Given the description of an element on the screen output the (x, y) to click on. 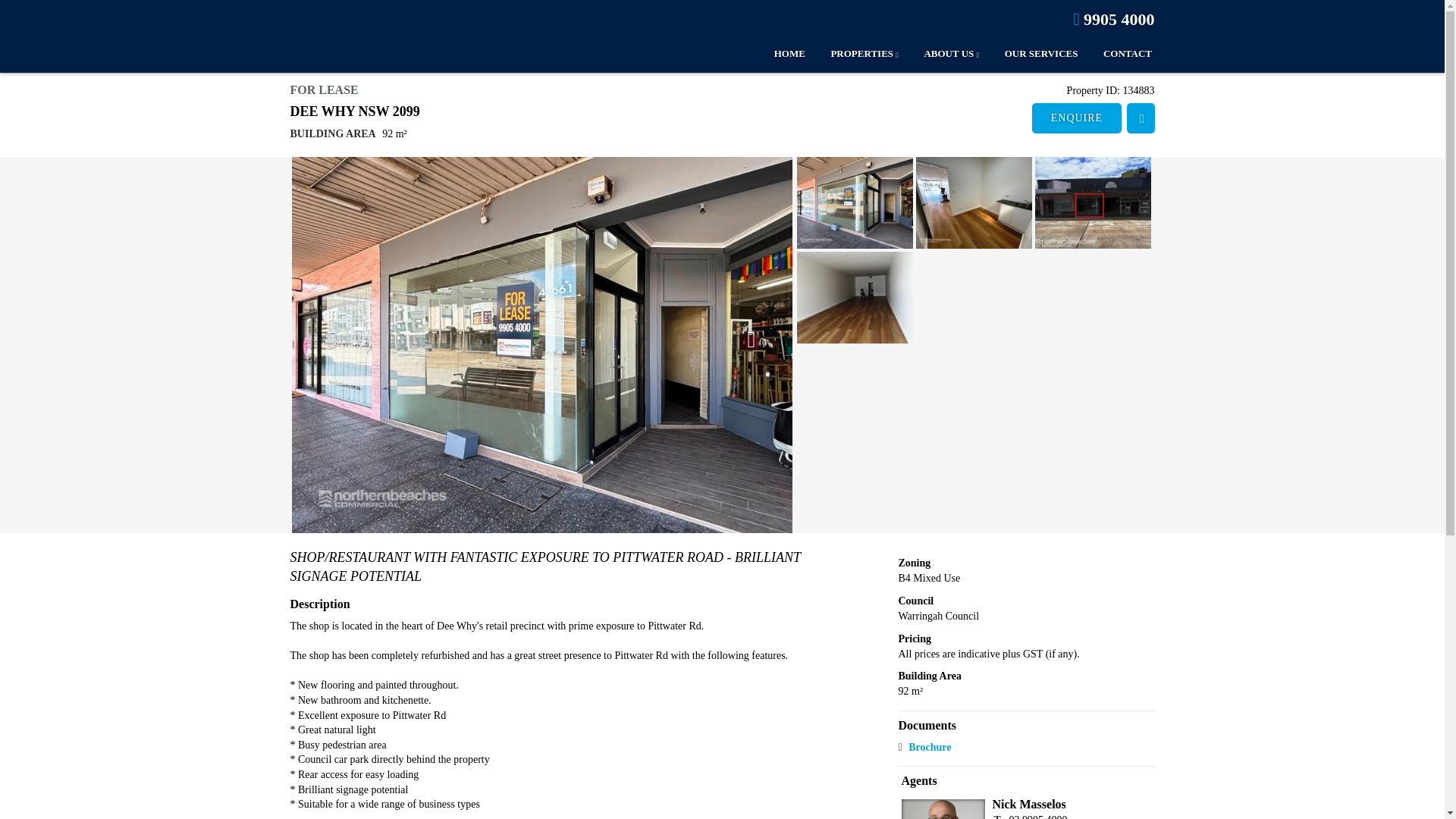
OUR SERVICES (1029, 55)
PROPERTIES (853, 55)
ENQUIRE (1076, 118)
9905 4000 (1113, 18)
02 9905 4000 (1038, 816)
ABOUT US (939, 55)
CONTACT (1115, 55)
Brochure (936, 747)
HOME (778, 55)
